Given the description of an element on the screen output the (x, y) to click on. 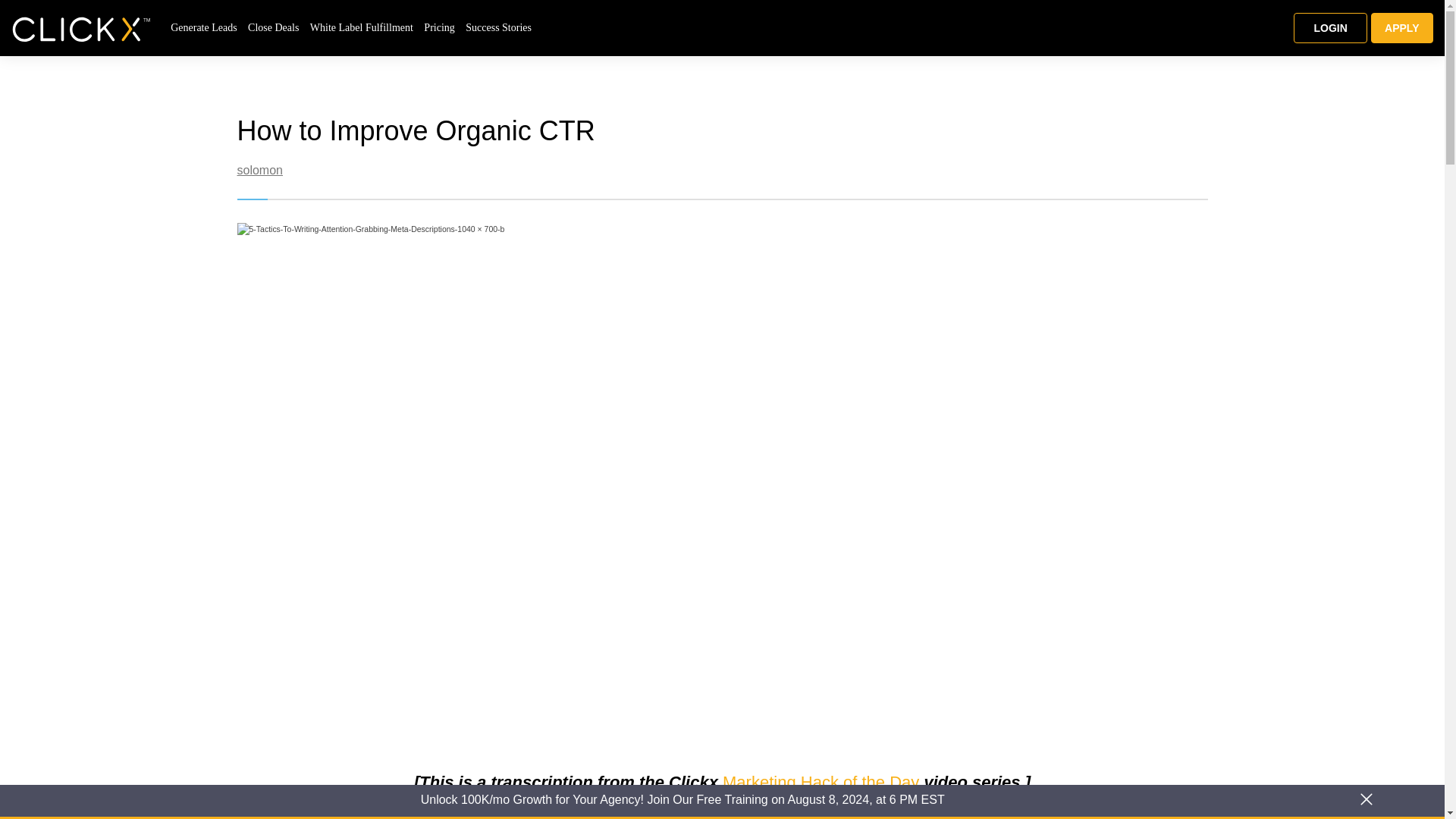
White Label Fulfillment (361, 27)
  APPLY   (1401, 28)
Close Deals (272, 27)
clickx-logo-white (81, 28)
solomon (258, 169)
Success Stories (498, 27)
Generate Leads (202, 27)
Marketing Hack of the Day (820, 782)
LOGIN (1330, 28)
